Given the description of an element on the screen output the (x, y) to click on. 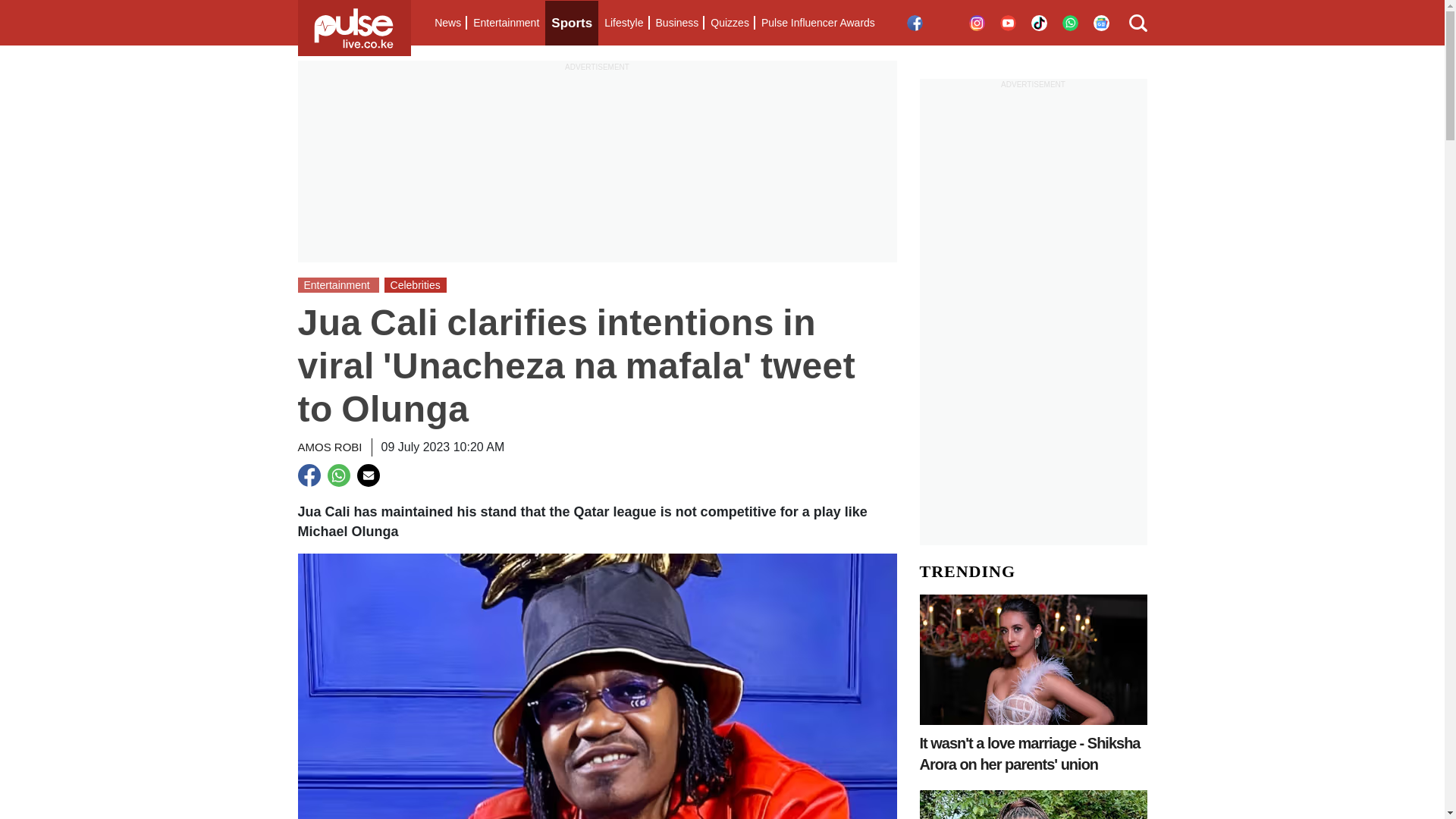
Quizzes (729, 22)
Lifestyle (623, 22)
Entertainment (505, 22)
Sports (571, 22)
Business (676, 22)
Pulse Influencer Awards (817, 22)
